Given the description of an element on the screen output the (x, y) to click on. 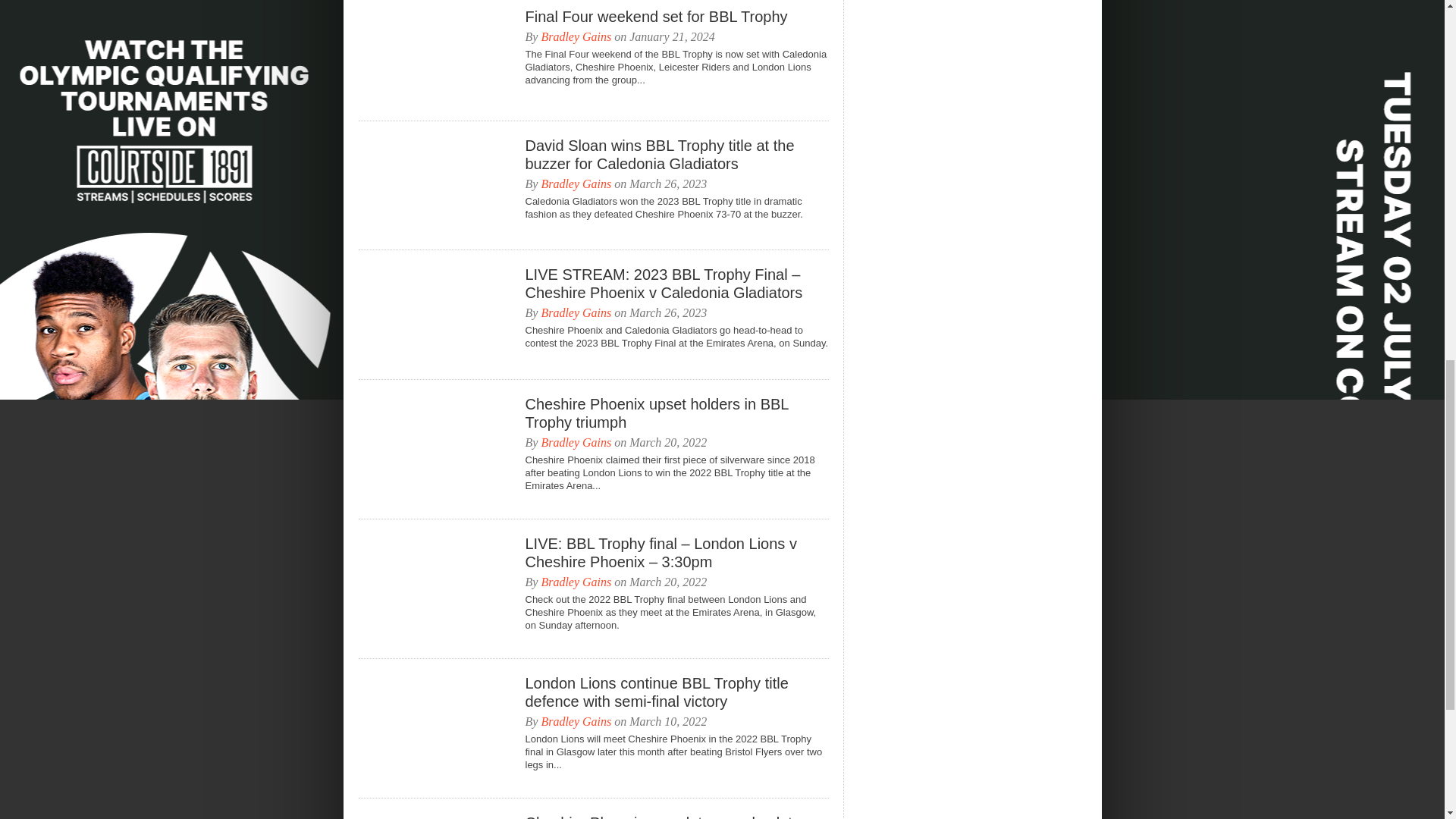
Posts by Bradley Gains (575, 183)
Posts by Bradley Gains (575, 721)
Posts by Bradley Gains (575, 441)
Posts by Bradley Gains (575, 581)
Posts by Bradley Gains (575, 36)
Posts by Bradley Gains (575, 312)
